Given the description of an element on the screen output the (x, y) to click on. 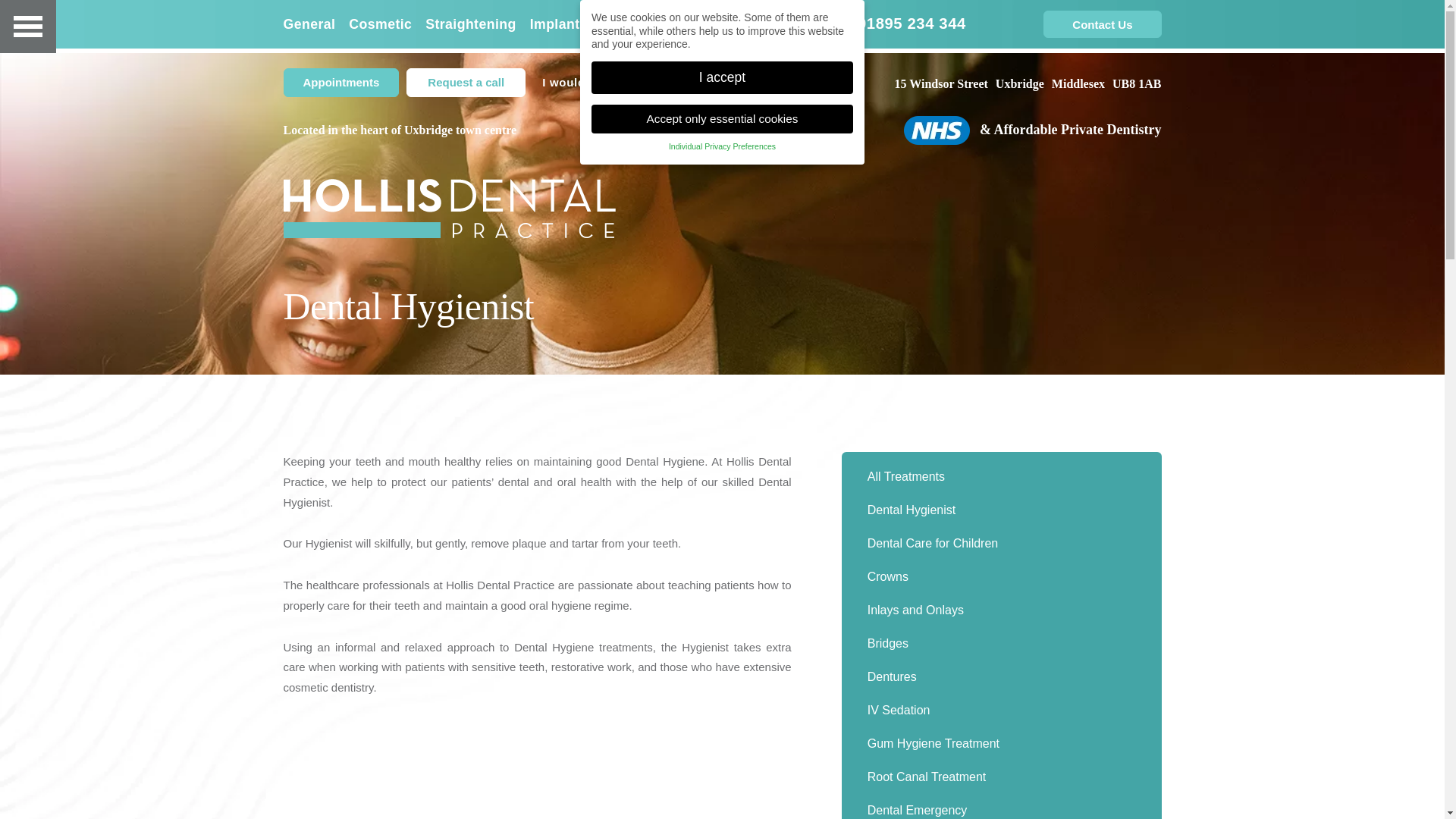
5 (749, 388)
4 (735, 388)
Facial (620, 23)
3 (721, 388)
Dental Care for Children (1001, 543)
2 (708, 388)
Inlays and Onlays (1001, 610)
Appointments (340, 82)
Cosmetic (380, 23)
Request a call (465, 82)
Implants (558, 23)
All Treatments (1001, 476)
Crowns (1001, 576)
1 (695, 388)
Straightening (470, 23)
